Given the description of an element on the screen output the (x, y) to click on. 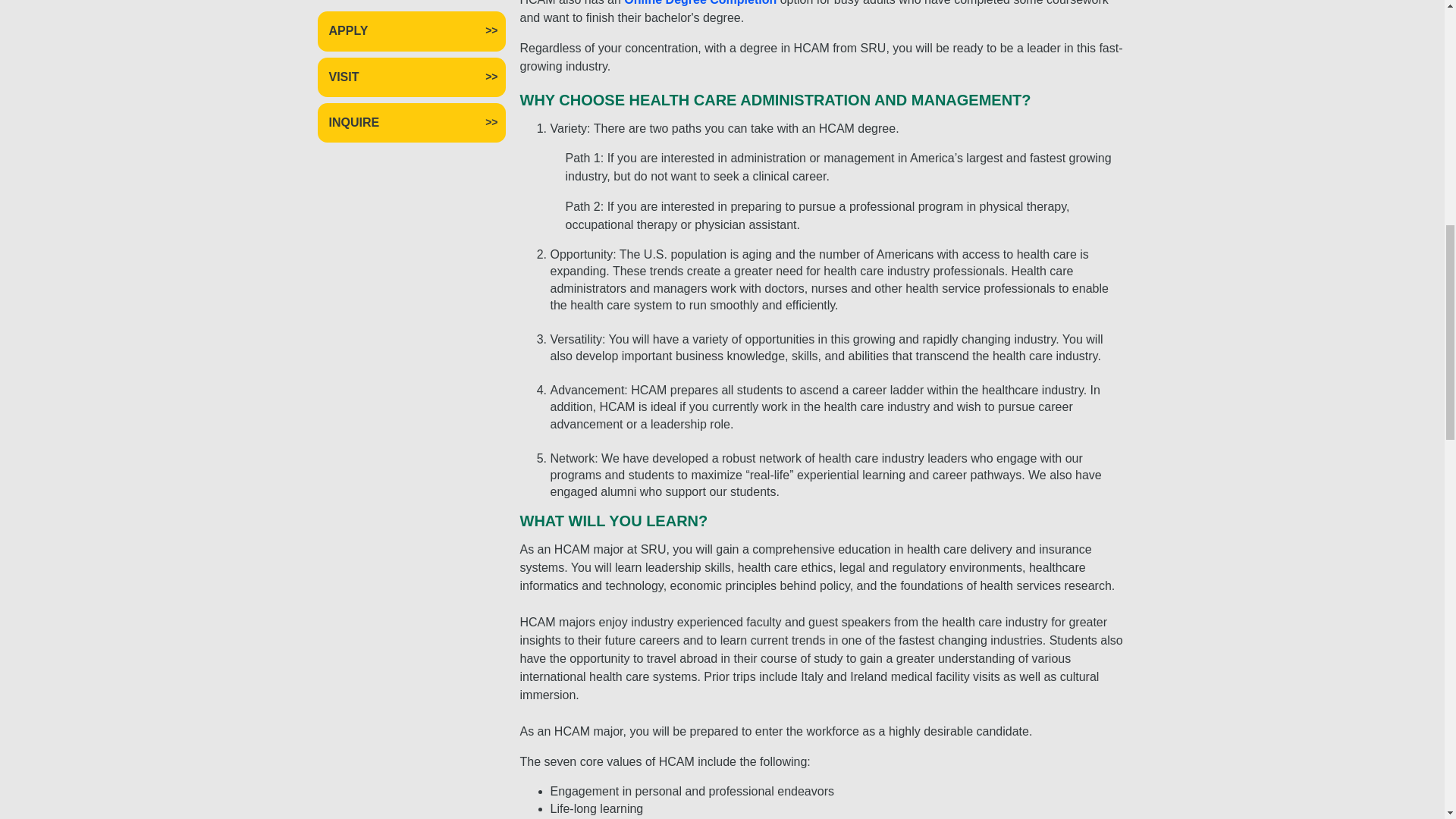
APPLY (411, 30)
Online Degree Completion (700, 2)
